Given the description of an element on the screen output the (x, y) to click on. 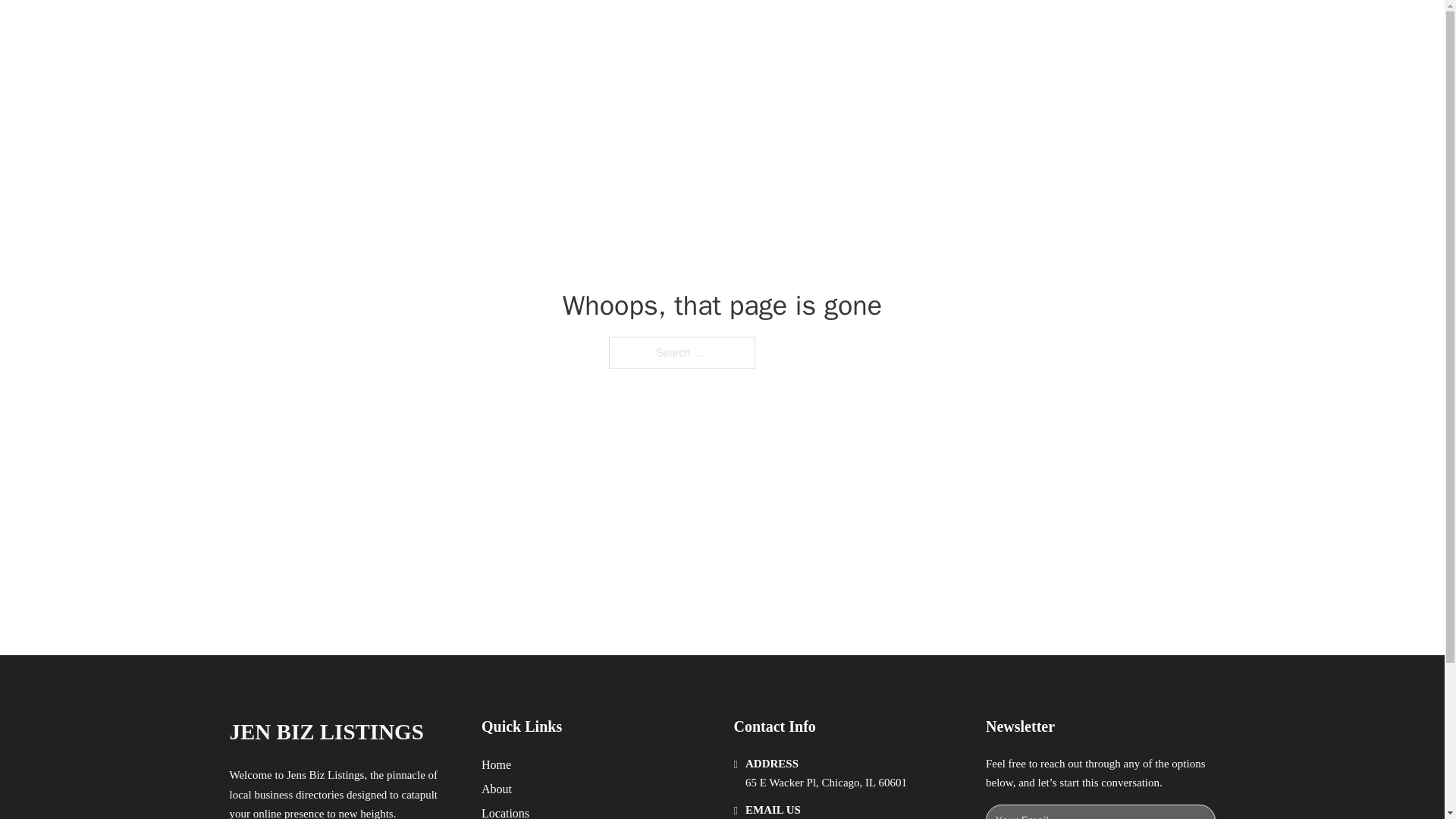
Locations (505, 811)
JENS BIZ LISTINGS (405, 28)
HOME (919, 29)
Home (496, 764)
JEN BIZ LISTINGS (325, 732)
About (496, 788)
LOCATIONS (990, 29)
